Given the description of an element on the screen output the (x, y) to click on. 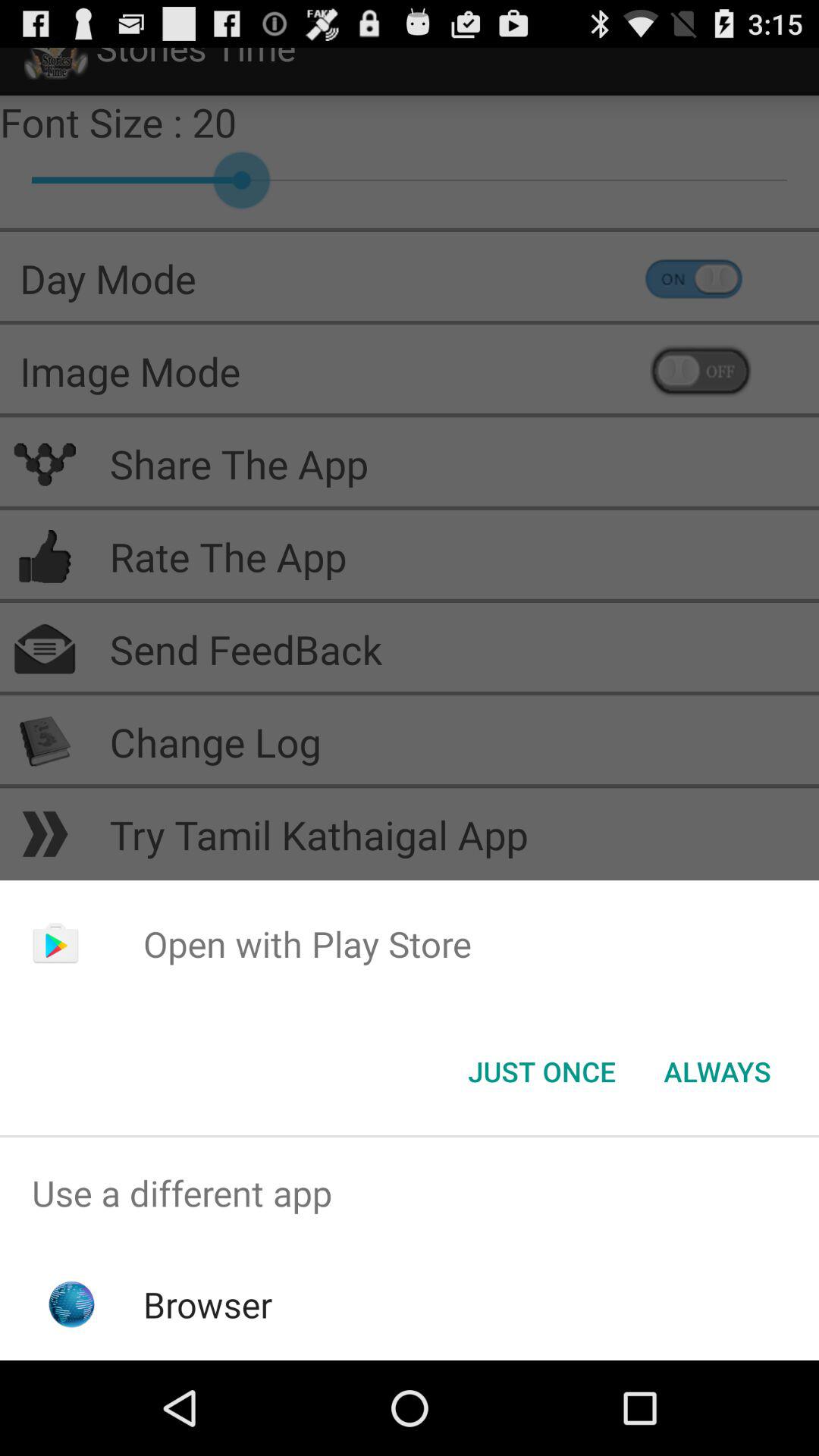
choose the just once icon (541, 1071)
